Given the description of an element on the screen output the (x, y) to click on. 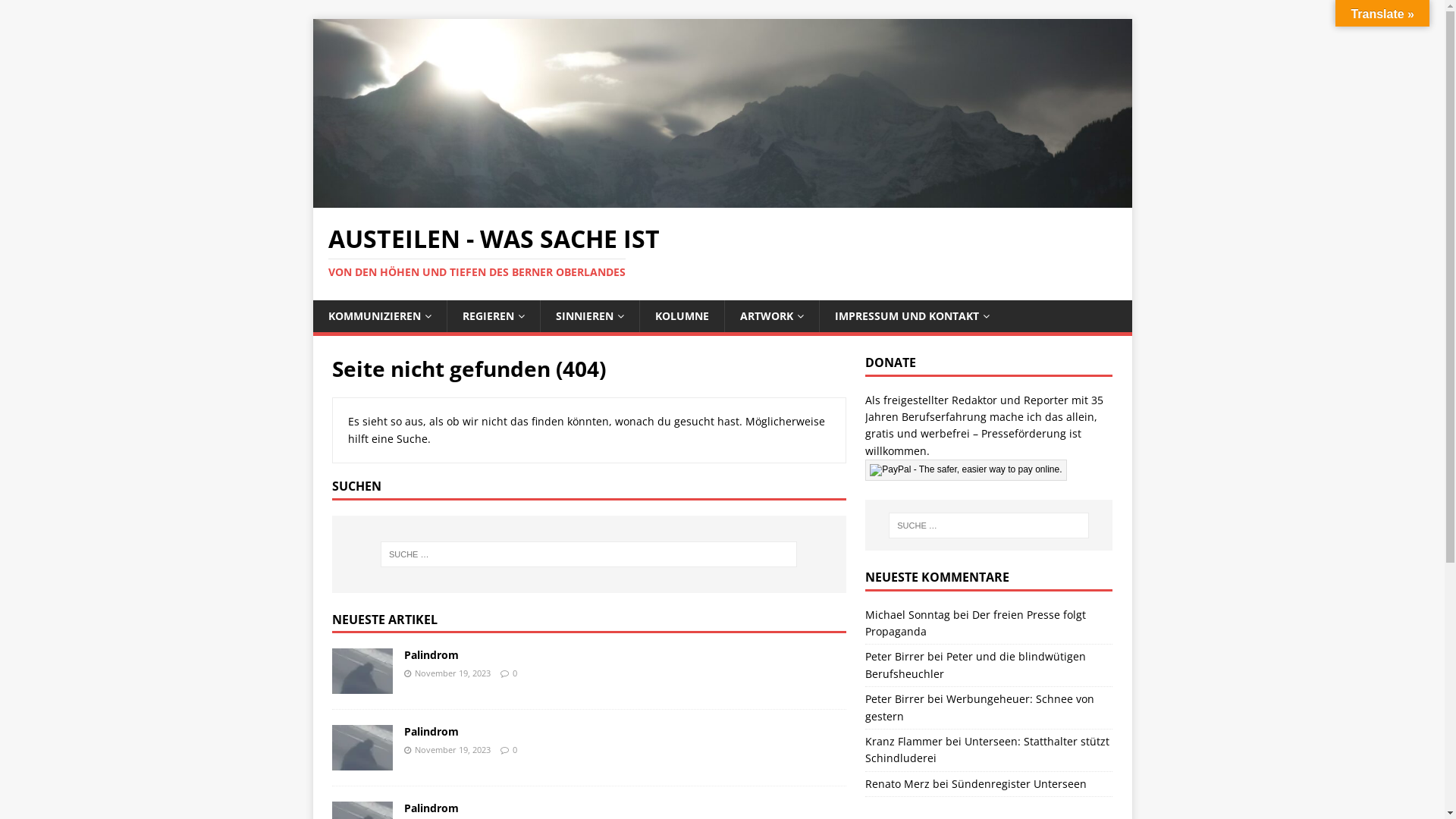
REGIEREN Element type: text (492, 316)
SINNIEREN Element type: text (589, 316)
Austeilen - was Sache ist Element type: hover (721, 198)
Palindrom Element type: text (430, 654)
ARTWORK Element type: text (770, 316)
IMPRESSUM UND KONTAKT Element type: text (911, 316)
0 Element type: text (514, 749)
Palindrom Element type: text (430, 731)
Palindrom Element type: hover (362, 684)
Palindrom Element type: hover (362, 761)
Suche Element type: text (56, 11)
KOMMUNIZIEREN Element type: text (378, 316)
Der freien Presse folgt Propaganda Element type: text (975, 622)
0 Element type: text (514, 672)
Werbungeheuer: Schnee von gestern Element type: text (979, 706)
Palindrom Element type: text (430, 807)
KOLUMNE Element type: text (680, 316)
